Given the description of an element on the screen output the (x, y) to click on. 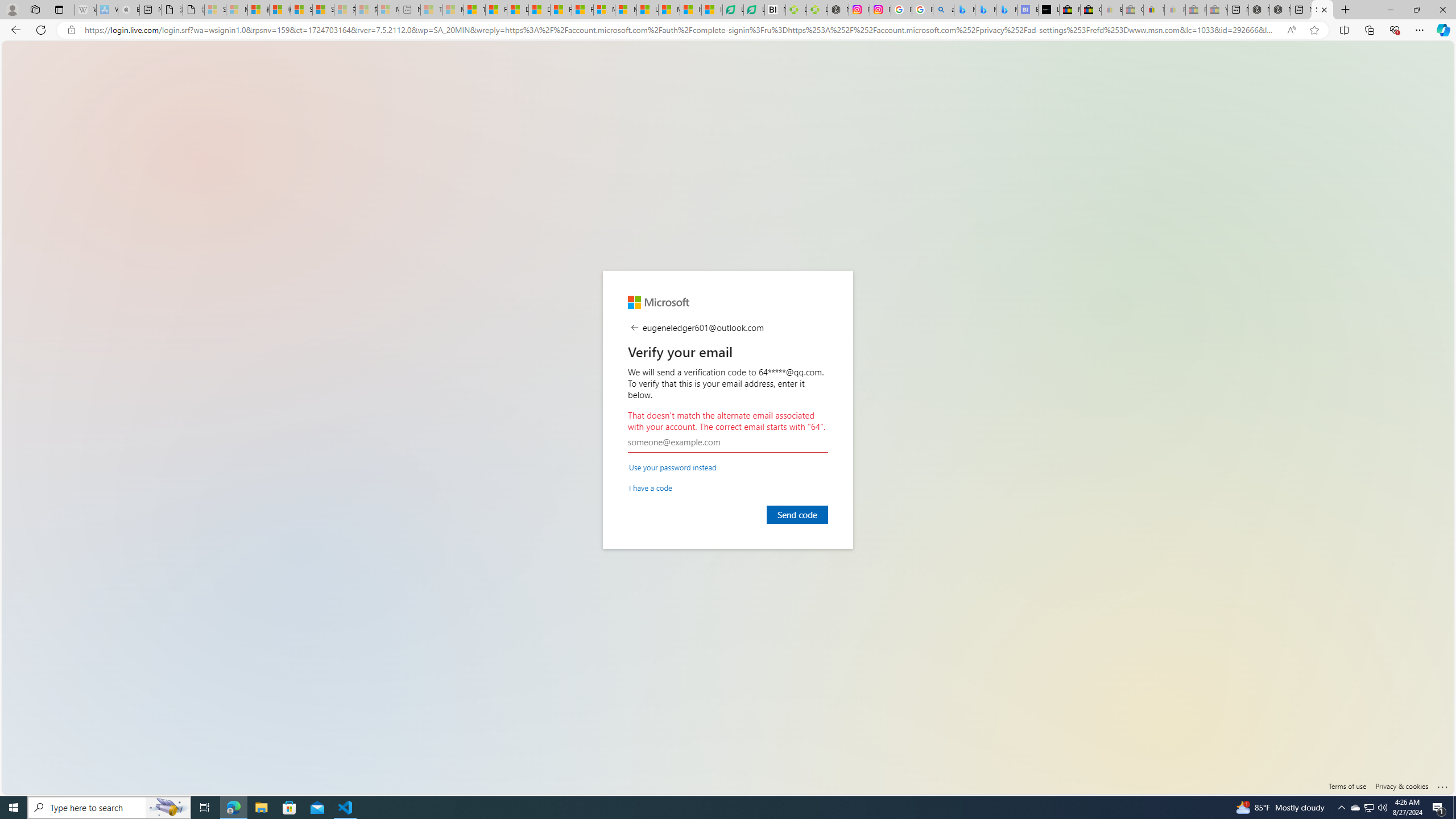
Nordace - Nordace Edin Collection (837, 9)
LendingTree - Compare Lenders (754, 9)
Microsoft account | Account Checkup - Sleeping (387, 9)
Yard, Garden & Outdoor Living - Sleeping (1216, 9)
Food and Drink - MSN (496, 9)
